Given the description of an element on the screen output the (x, y) to click on. 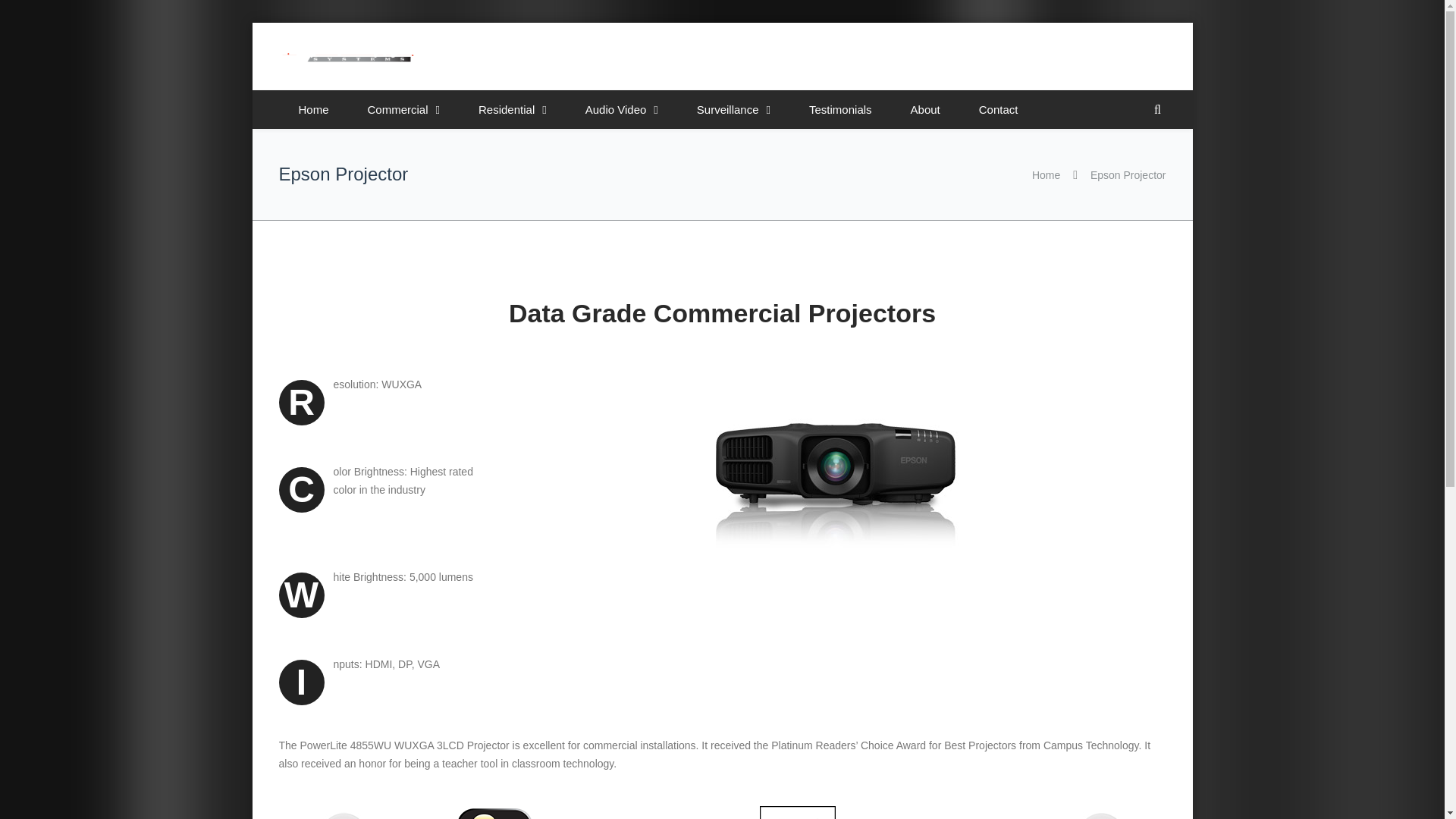
Audio Video (622, 109)
Streamline Systems (347, 60)
Testimonials (840, 109)
Commercial (404, 109)
Contact (998, 109)
Home (1045, 174)
Home (314, 109)
About (925, 109)
Surveillance (734, 109)
Residential (513, 109)
